Given the description of an element on the screen output the (x, y) to click on. 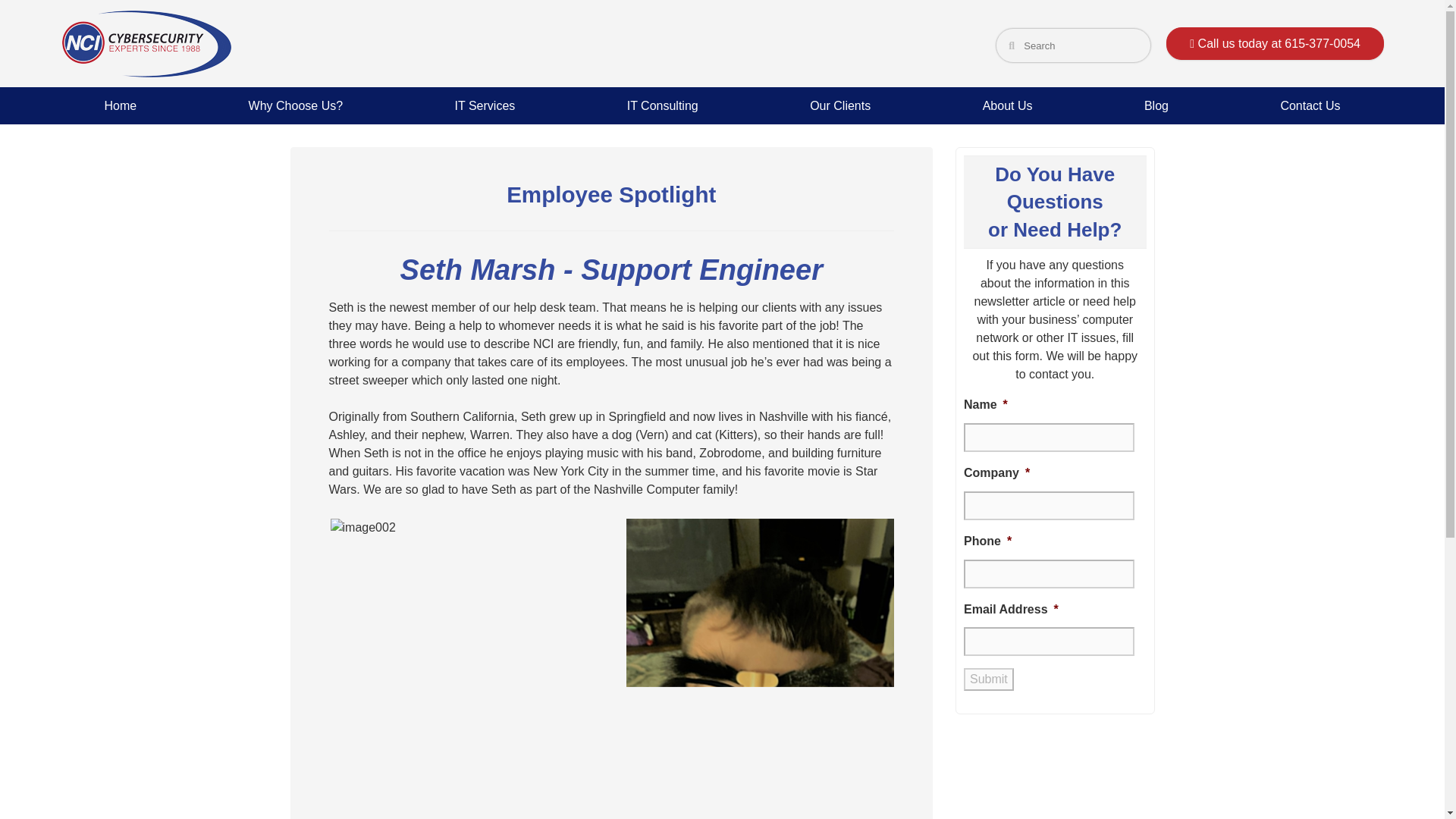
Contact Us (1310, 105)
Our Clients (839, 105)
Call us today at 615-377-0054 (1275, 43)
IT Services (484, 105)
Home (120, 105)
Submit (988, 679)
Why Choose Us? (295, 105)
About Us (1008, 105)
image002 (363, 527)
image004 (772, 668)
IT Consulting (663, 105)
Blog (1156, 105)
Submit (988, 679)
